Given the description of an element on the screen output the (x, y) to click on. 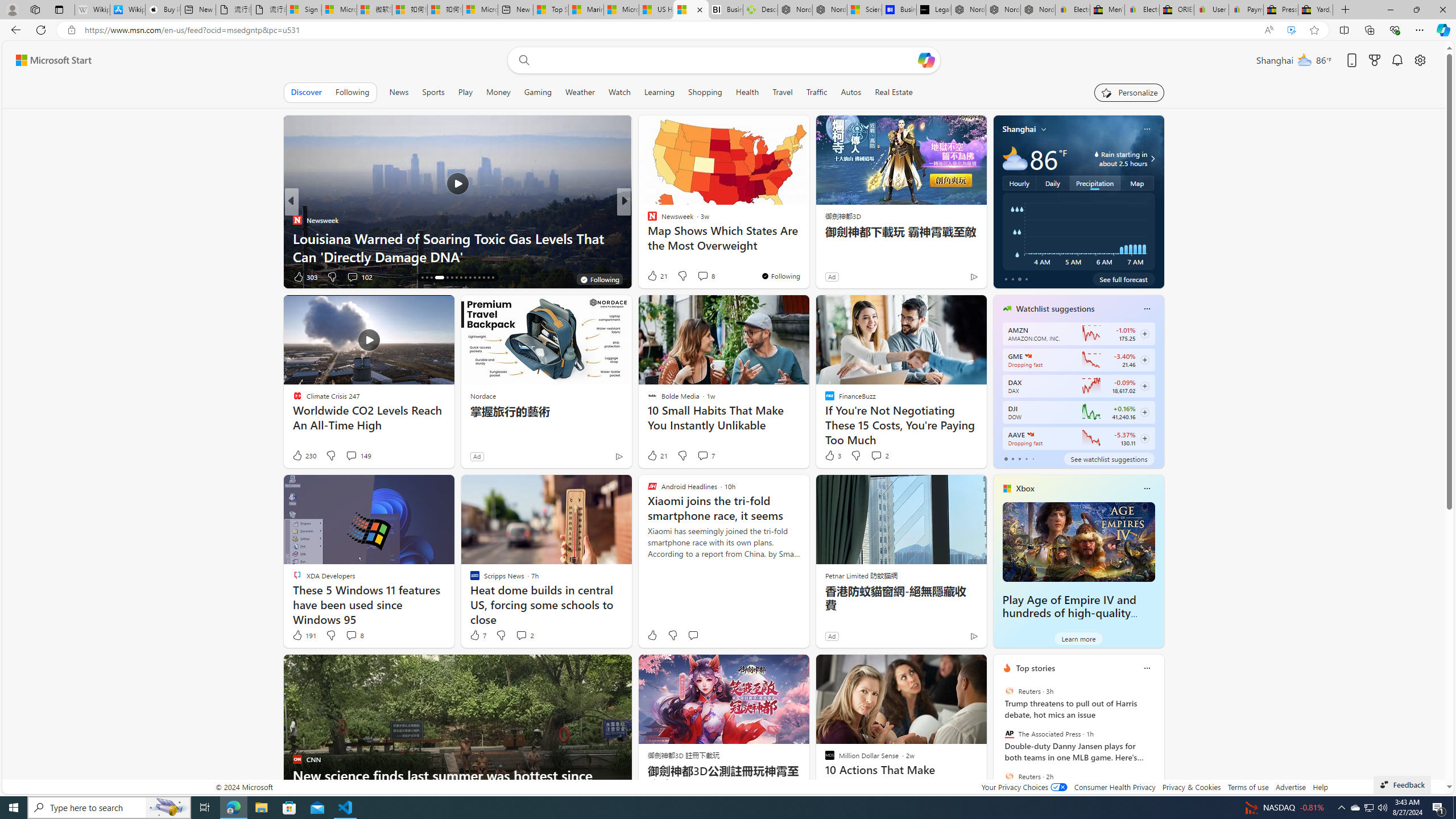
View comments 7 Comment (703, 455)
AutomationID: tab-18 (431, 277)
The Weather Channel (647, 219)
SlashGear (647, 238)
tab-4 (1032, 458)
View comments 2 Comment (524, 634)
previous (998, 741)
AutomationID: tab-25 (470, 277)
View comments 157 Comment (703, 276)
